Given the description of an element on the screen output the (x, y) to click on. 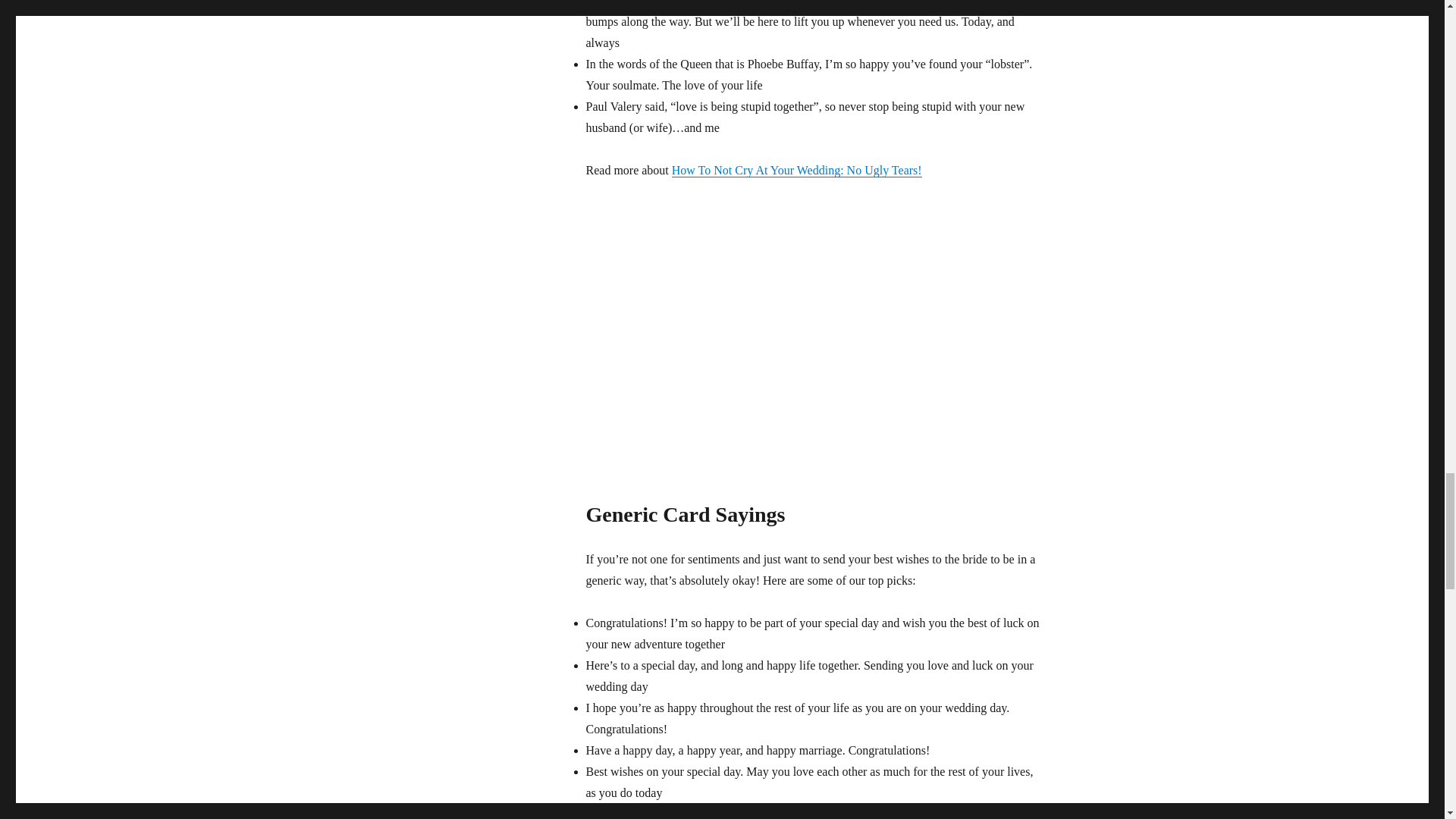
How To Not Cry At Your Wedding: No Ugly Tears! (796, 169)
